Given the description of an element on the screen output the (x, y) to click on. 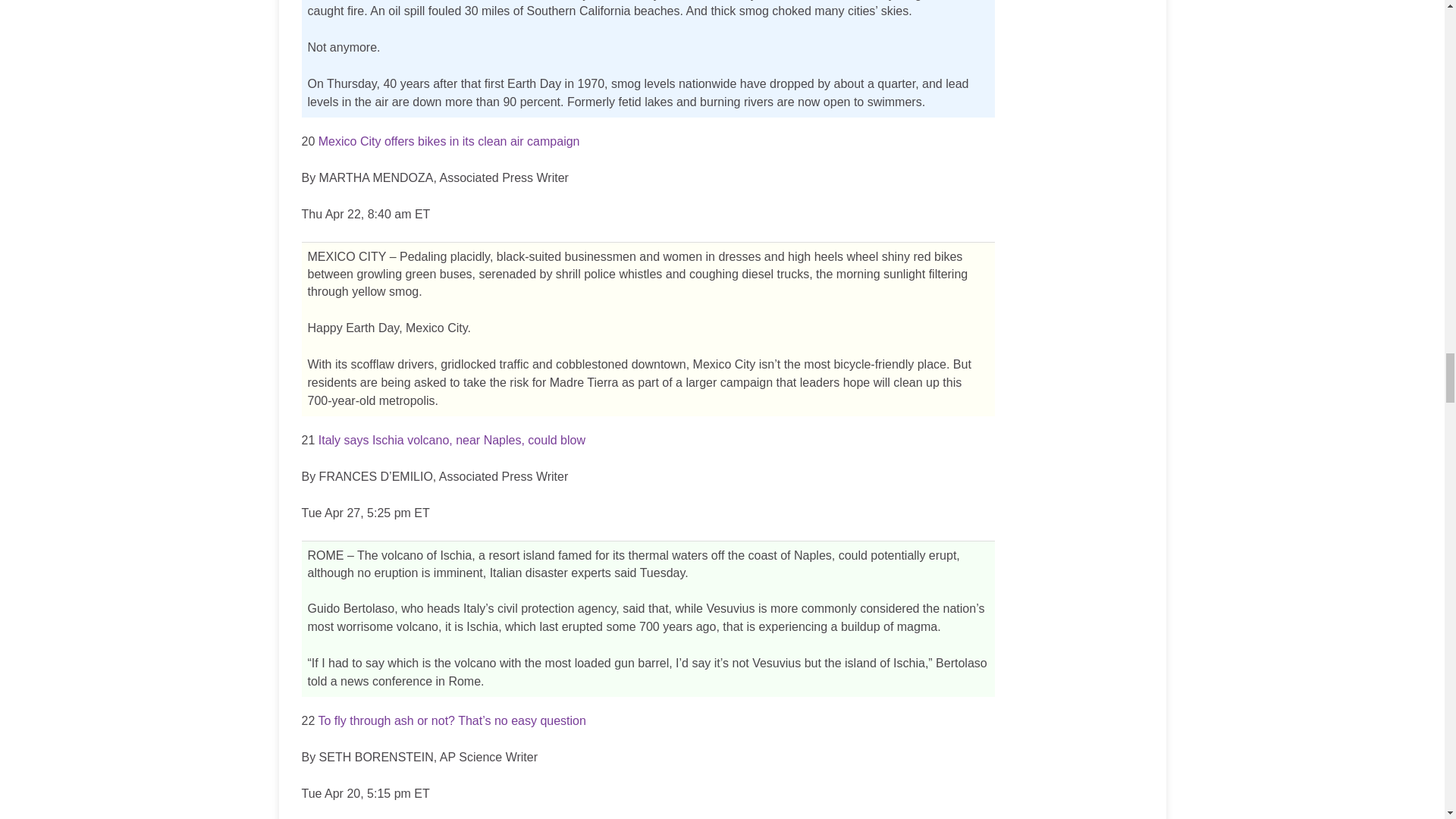
Italy says Ischia volcano, near Naples, could blow (451, 440)
Mexico City offers bikes in its clean air campaign (448, 141)
